Given the description of an element on the screen output the (x, y) to click on. 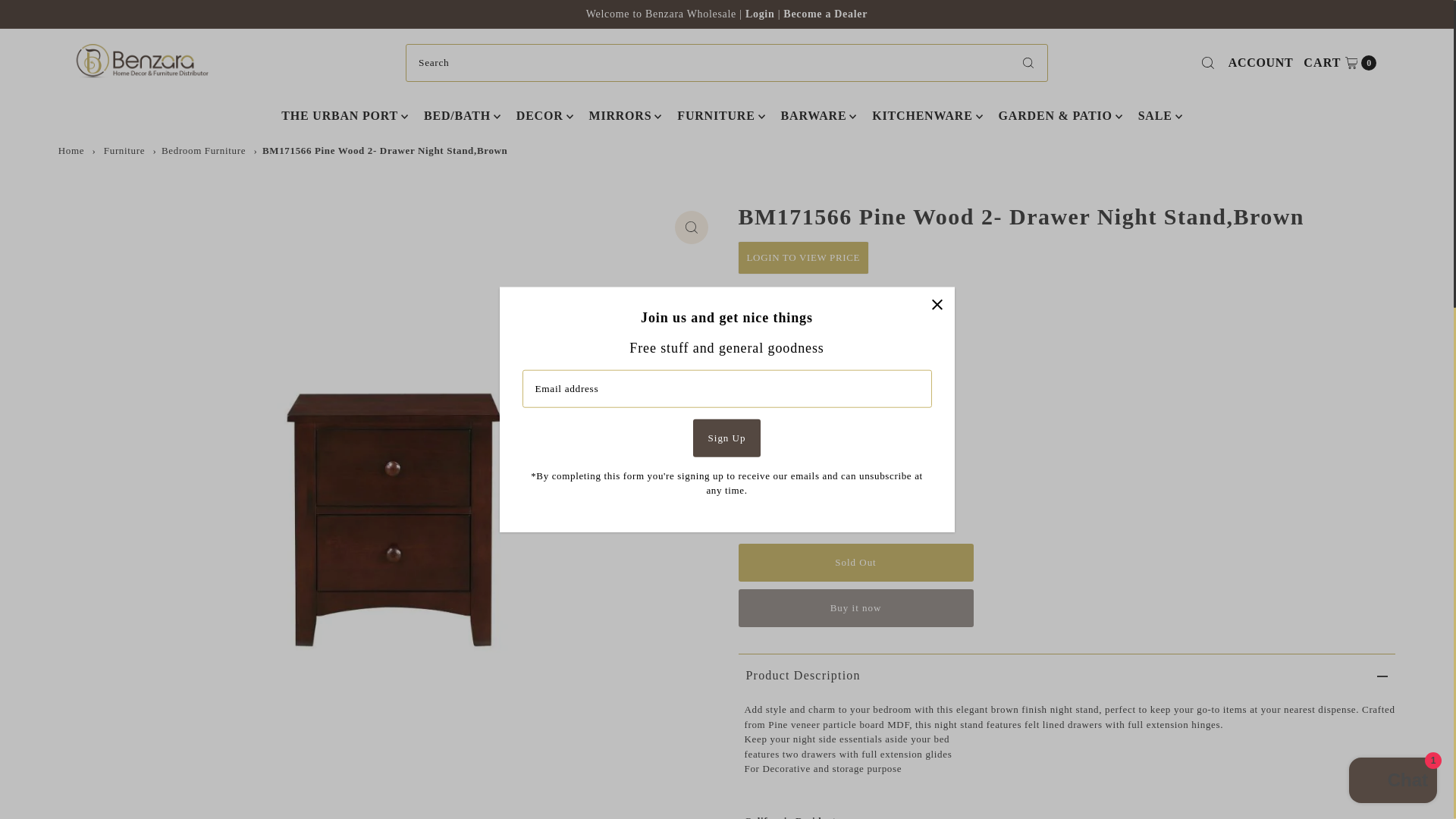
Furniture (123, 149)
Bedroom Furniture (203, 149)
Become a Dealer (1340, 62)
THE URBAN PORT (825, 13)
Click to zoom (339, 116)
Sold Out (691, 227)
Home (856, 562)
Sign Up (71, 149)
Login (727, 437)
ACCOUNT (761, 13)
